Given the description of an element on the screen output the (x, y) to click on. 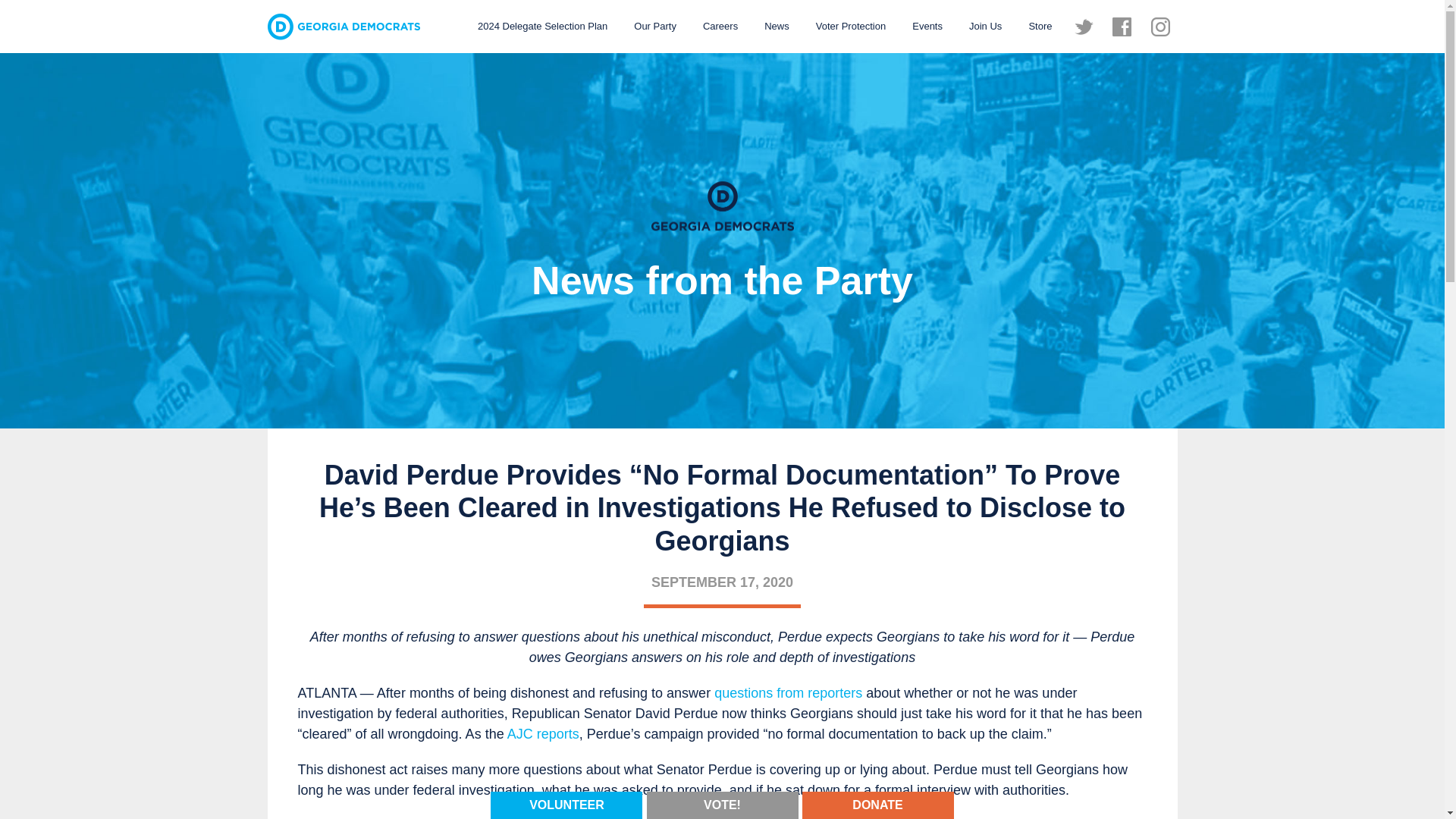
Our Party (655, 25)
Careers (720, 25)
News (776, 25)
VOLUNTEER (566, 804)
AJC reports (542, 734)
questions from reporters (787, 693)
2024 Delegate Selection Plan (541, 25)
Events (927, 25)
Join Us (985, 25)
